Given the description of an element on the screen output the (x, y) to click on. 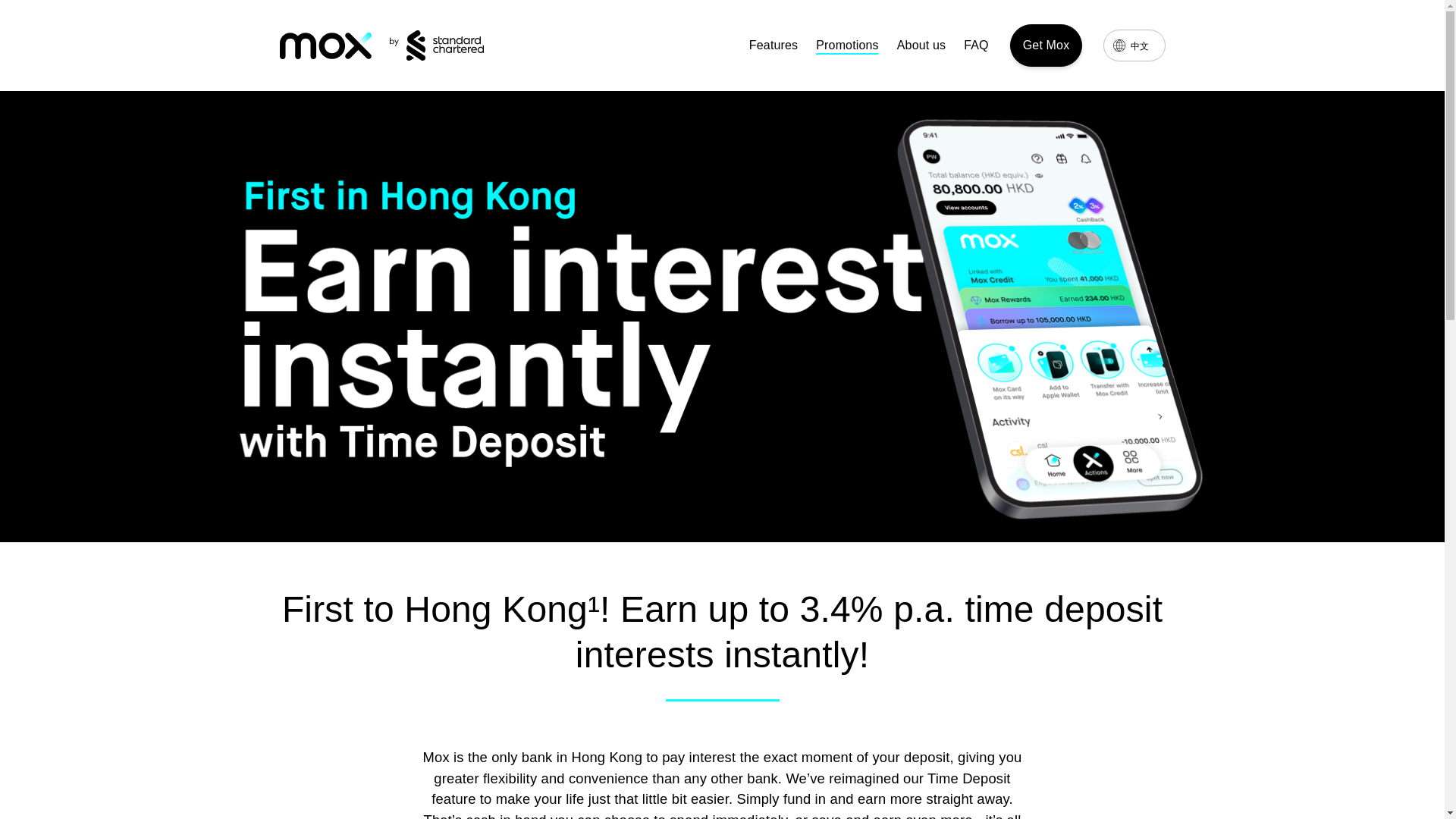
Get Mox (1046, 45)
Features (773, 45)
FAQ (975, 45)
About us (920, 45)
Promotions (847, 45)
